Given the description of an element on the screen output the (x, y) to click on. 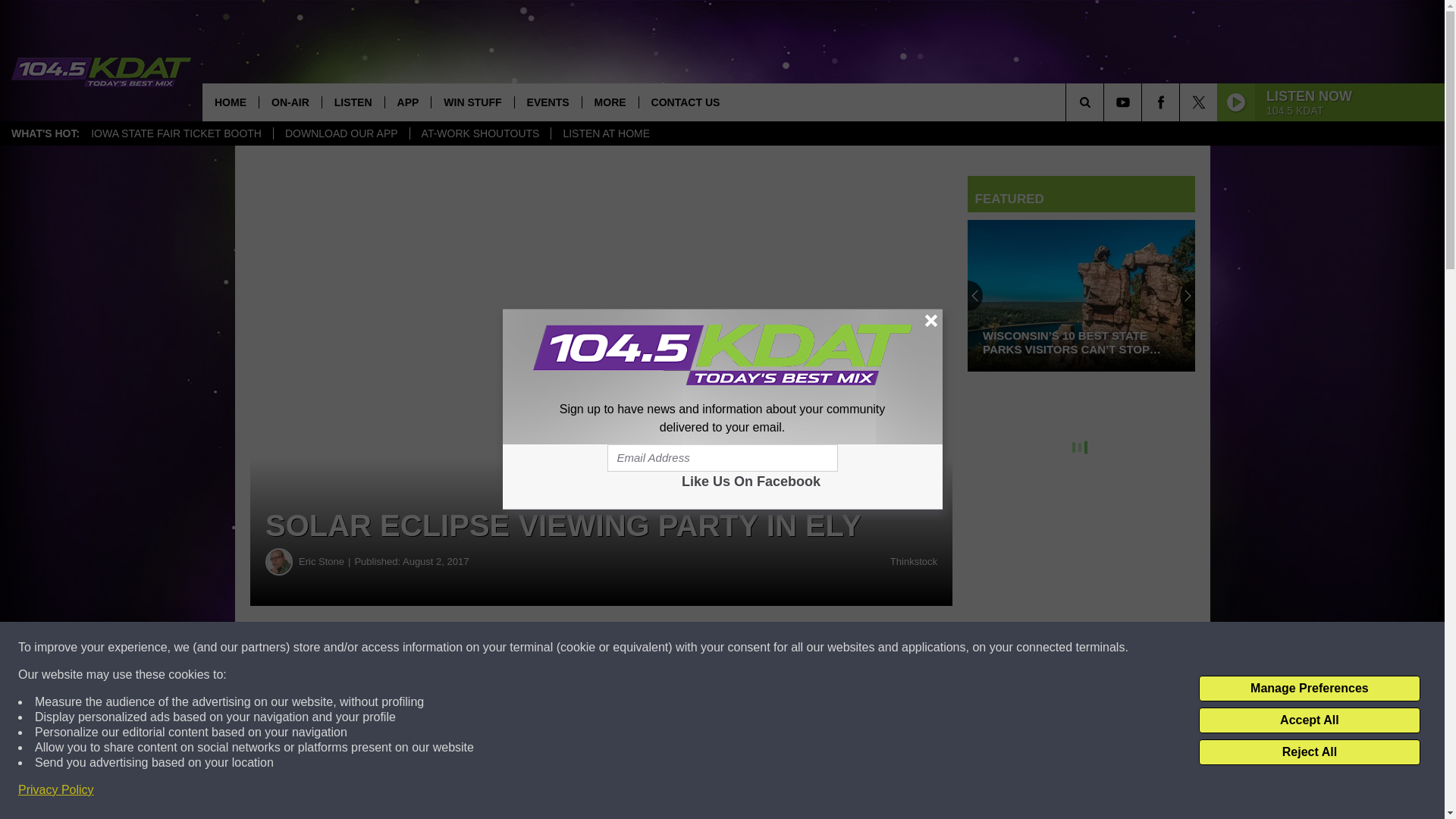
MORE (609, 102)
Manage Preferences (1309, 688)
SEARCH (1106, 102)
AT-WORK SHOUTOUTS (480, 133)
EVENTS (546, 102)
Privacy Policy (55, 789)
ON-AIR (290, 102)
APP (407, 102)
WIN STUFF (471, 102)
SEARCH (1106, 102)
Email Address (722, 457)
Share on Facebook (460, 647)
IOWA STATE FAIR TICKET BOOTH (176, 133)
DOWNLOAD OUR APP (341, 133)
Share on Twitter (741, 647)
